Given the description of an element on the screen output the (x, y) to click on. 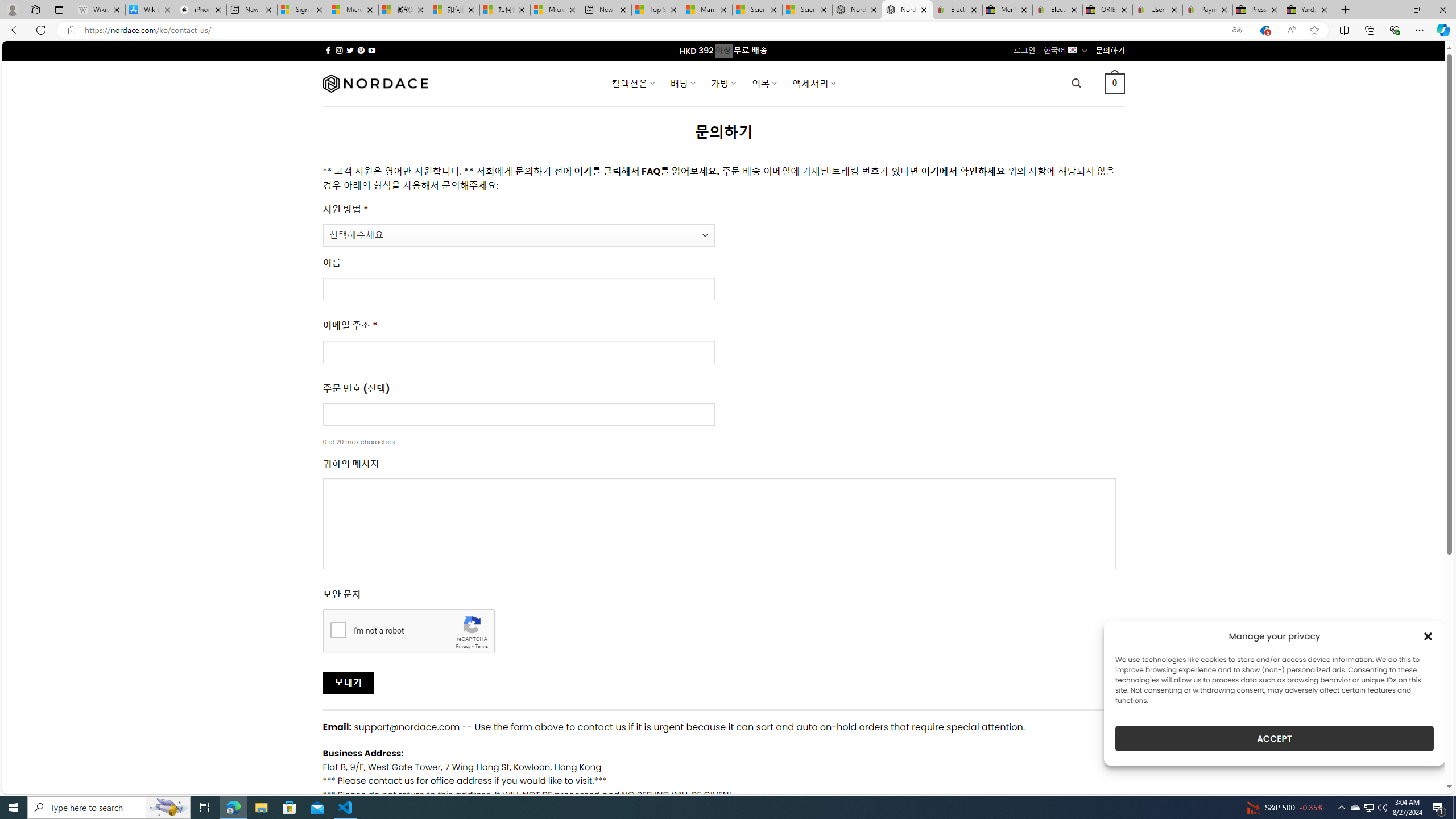
Yard, Garden & Outdoor Living (1308, 9)
